Given the description of an element on the screen output the (x, y) to click on. 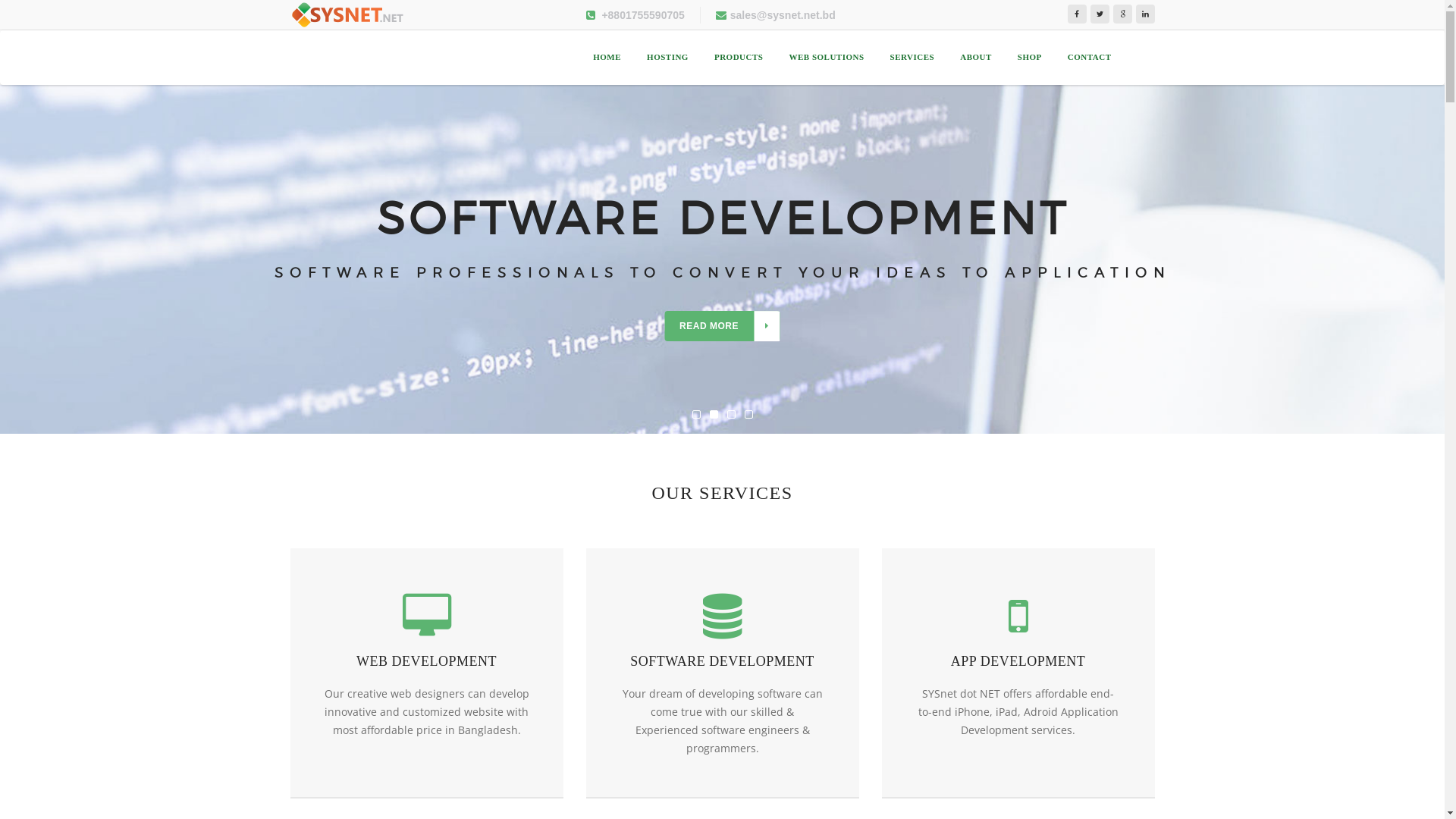
+8801755590705 Element type: text (634, 15)
1 Element type: text (695, 414)
4 Element type: text (748, 414)
SERVICES Element type: text (912, 57)
sales@sysnet.net.bd Element type: text (775, 15)
WEB SOLUTIONS Element type: text (825, 57)
ABOUT Element type: text (975, 57)
3 Element type: text (730, 414)
READ MORE Element type: text (722, 325)
PRODUCTS Element type: text (738, 57)
SHOP Element type: text (1029, 57)
CONTACT Element type: text (1089, 57)
HOME Element type: text (606, 57)
2 Element type: text (713, 414)
HOSTING Element type: text (667, 57)
